Given the description of an element on the screen output the (x, y) to click on. 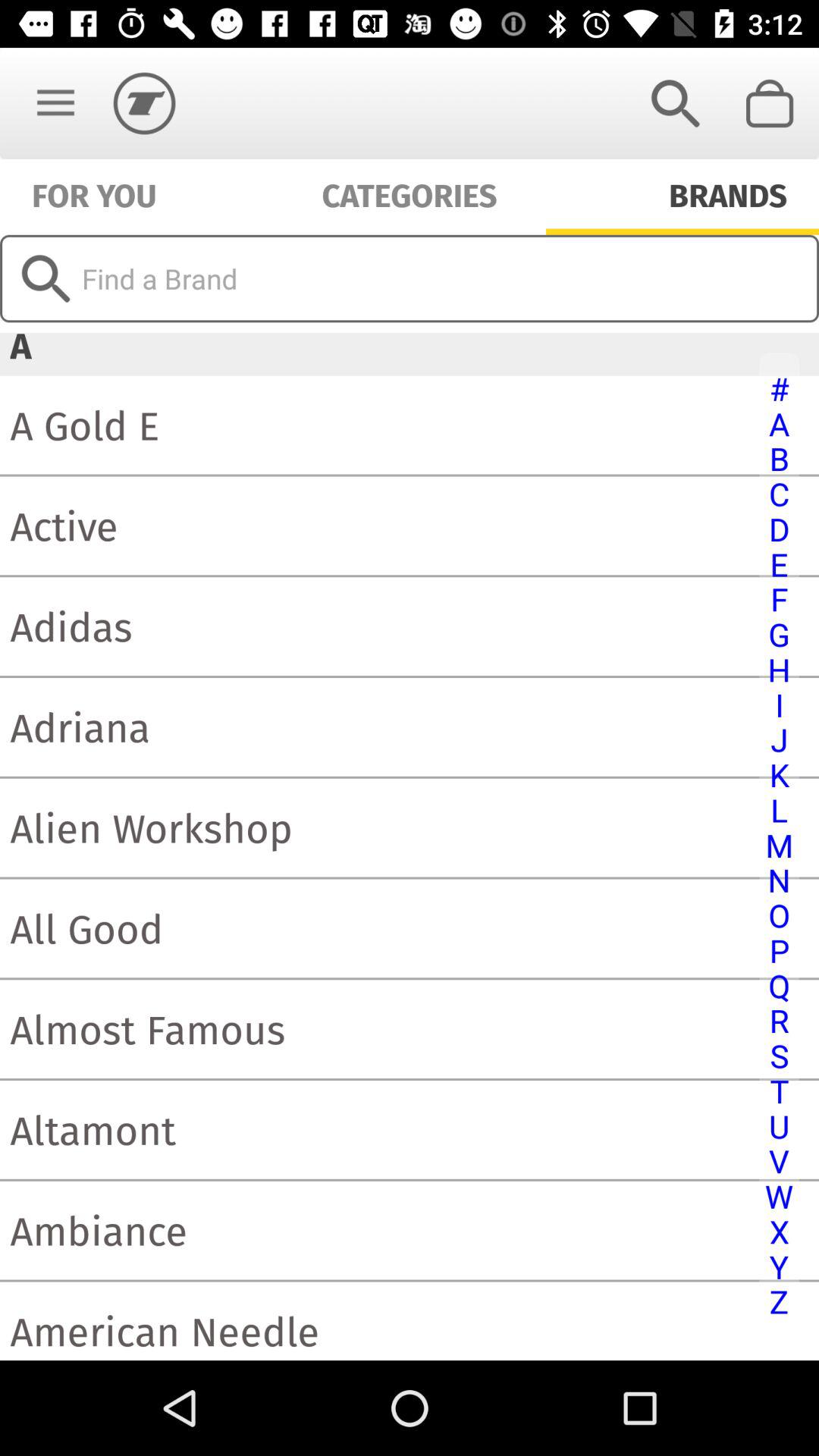
swipe until for you (93, 193)
